Given the description of an element on the screen output the (x, y) to click on. 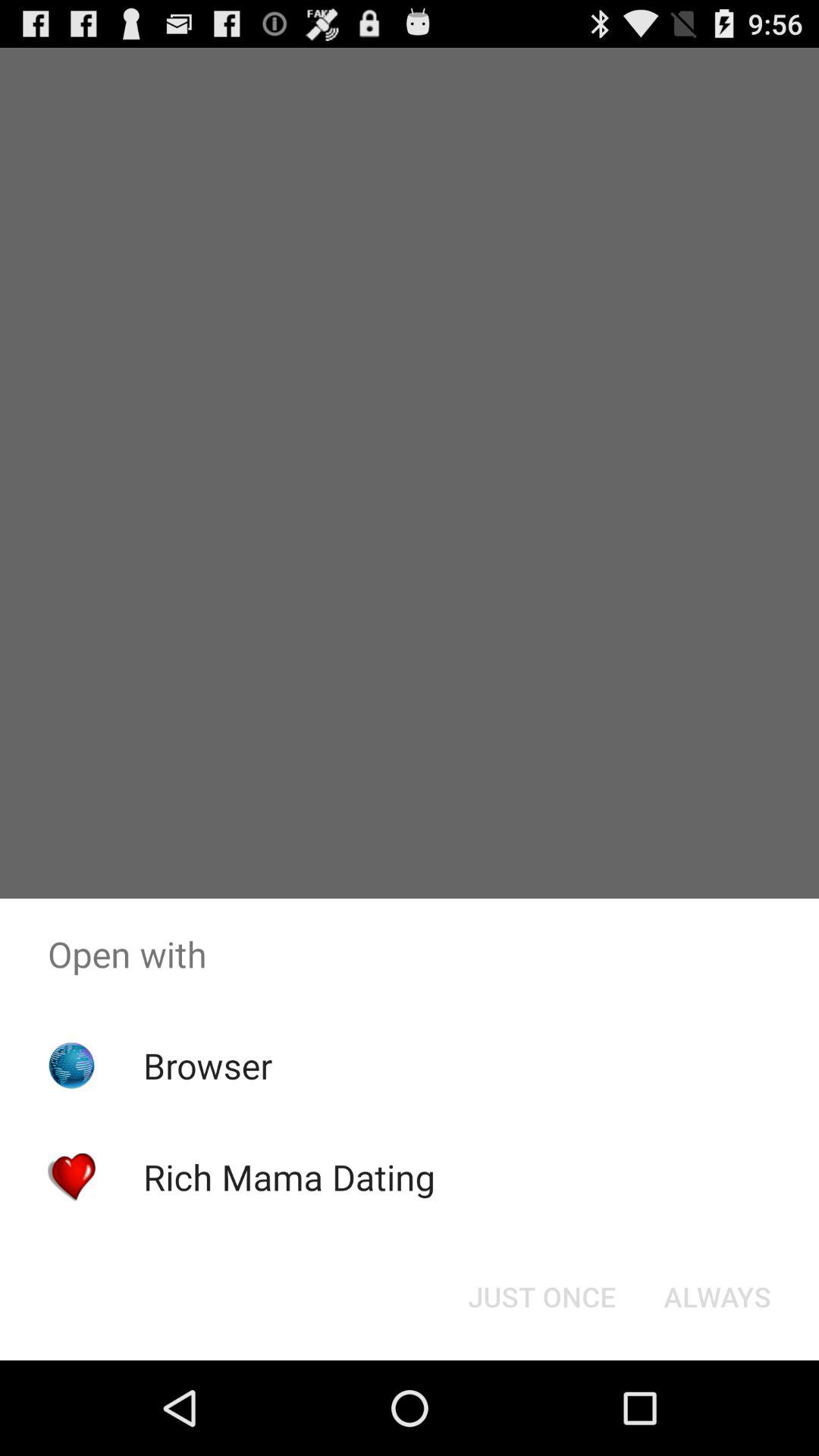
scroll until browser (207, 1065)
